Given the description of an element on the screen output the (x, y) to click on. 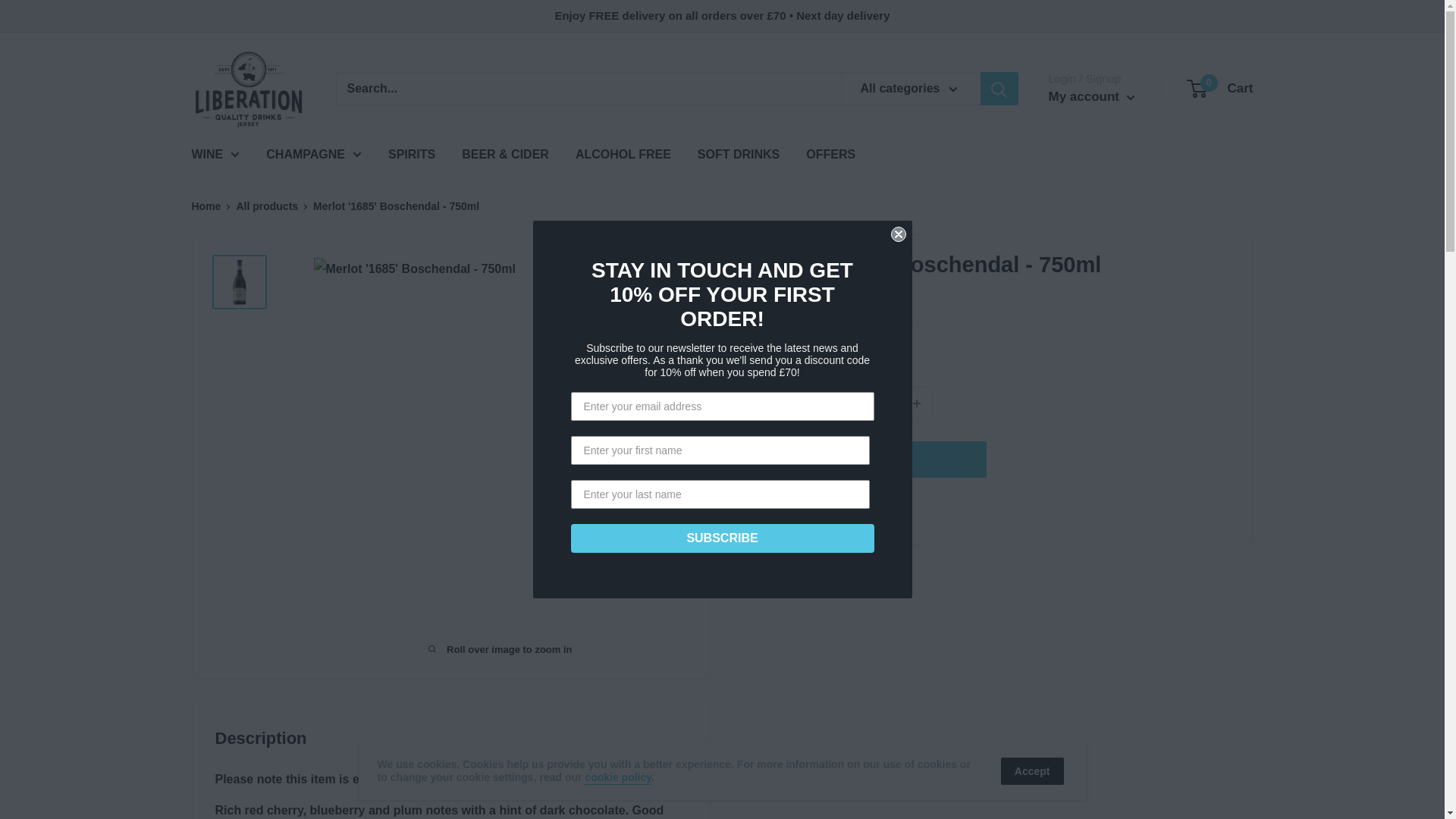
Decrease quantity by 1 (836, 402)
CHAMPAGNE (1220, 88)
WINE (313, 154)
My account (215, 154)
1 (1091, 96)
Increase quantity by 1 (876, 402)
